Given the description of an element on the screen output the (x, y) to click on. 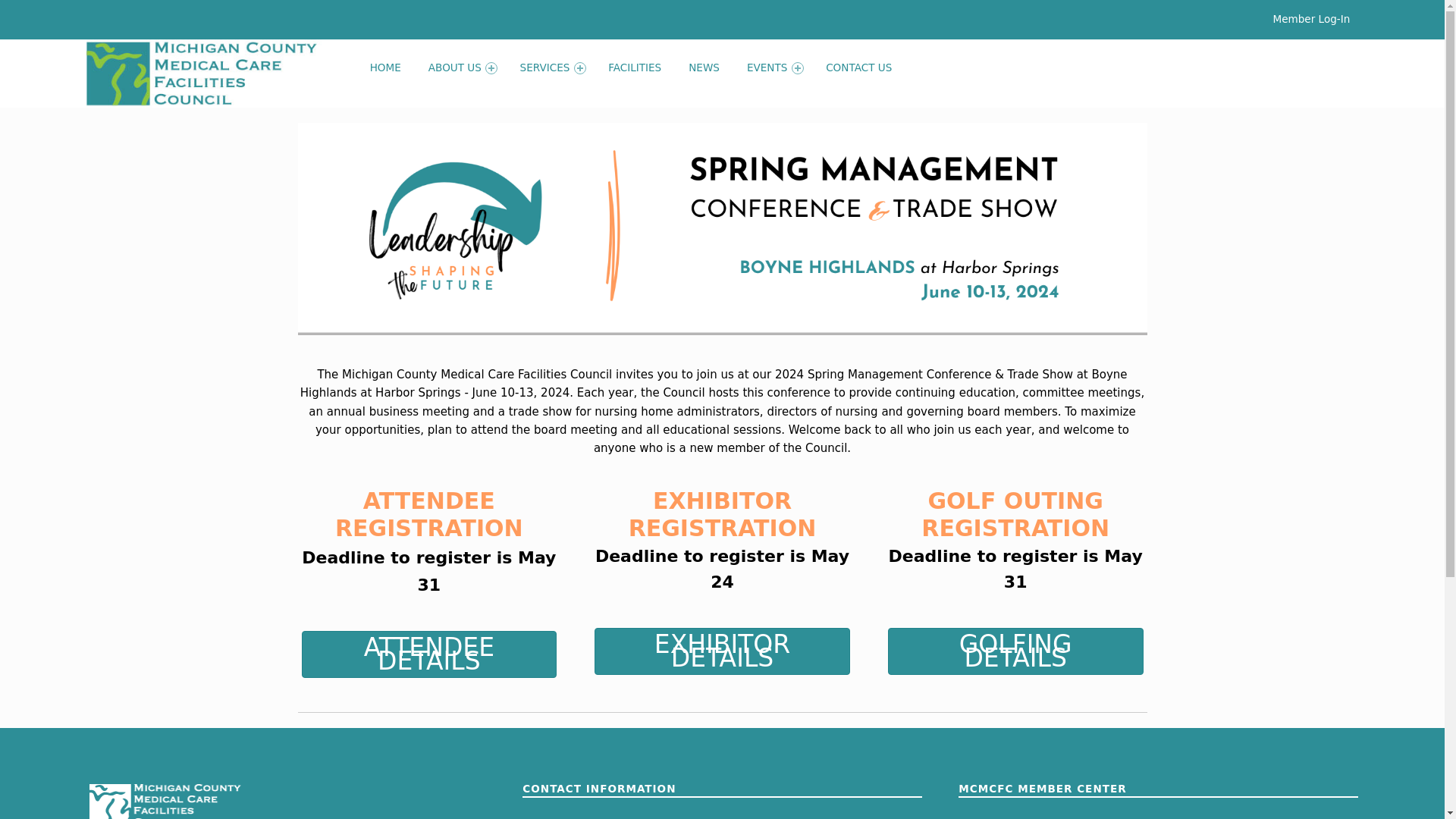
Member Log-In (1311, 18)
ATTENDEE DETAILS (429, 654)
NEWS (703, 68)
Member Log-In (996, 818)
EVENTS (771, 68)
GOLFING DETAILS (1015, 651)
FACILITIES (634, 68)
ABOUT US (459, 68)
CONTACT US (858, 68)
